Given the description of an element on the screen output the (x, y) to click on. 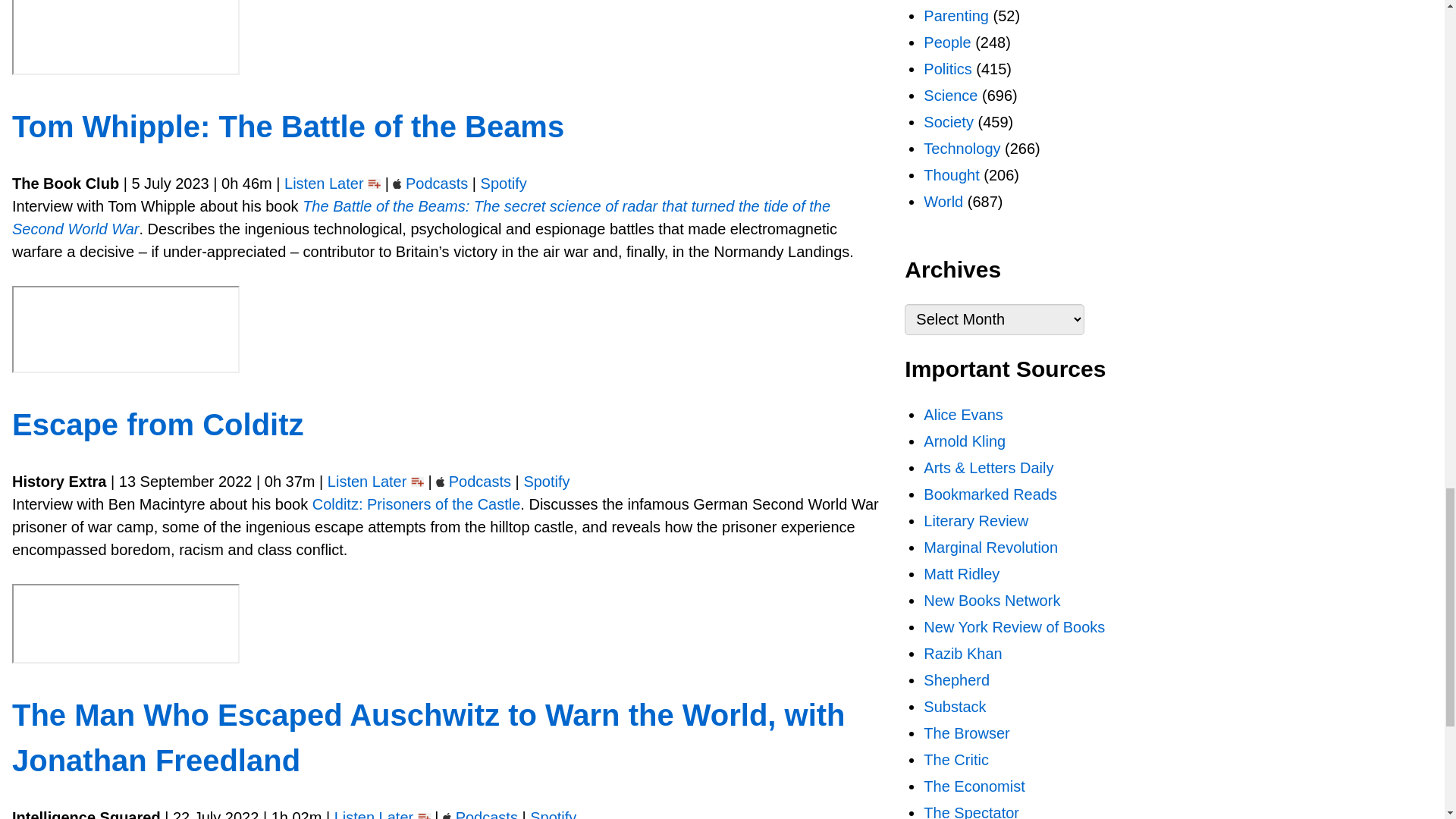
Tom Whipple: The Battle of the Beams (287, 126)
Listen Later (323, 183)
